Given the description of an element on the screen output the (x, y) to click on. 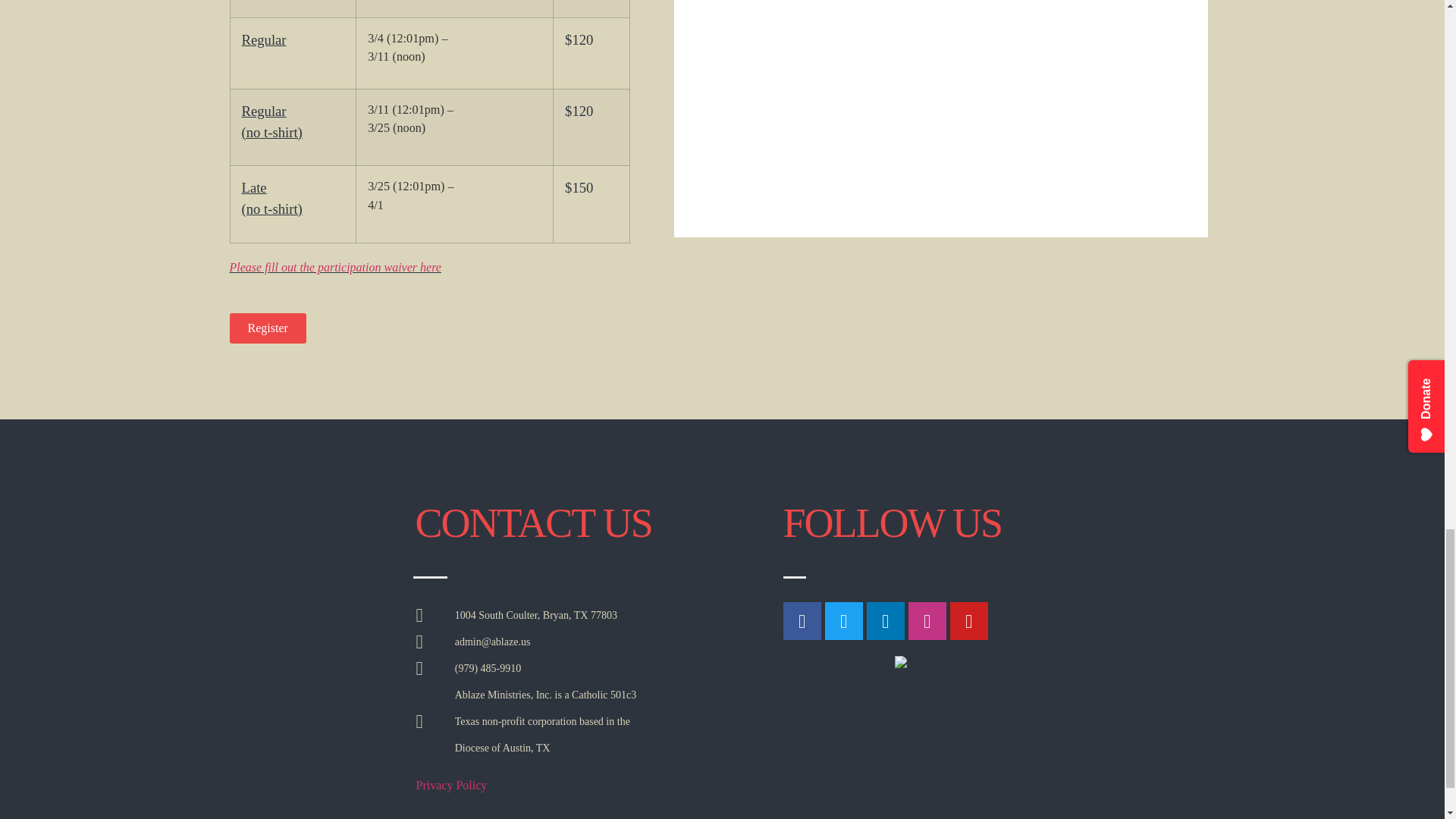
Please fill out the participation waiver here (334, 267)
Privacy Policy (450, 784)
Register (266, 327)
